Given the description of an element on the screen output the (x, y) to click on. 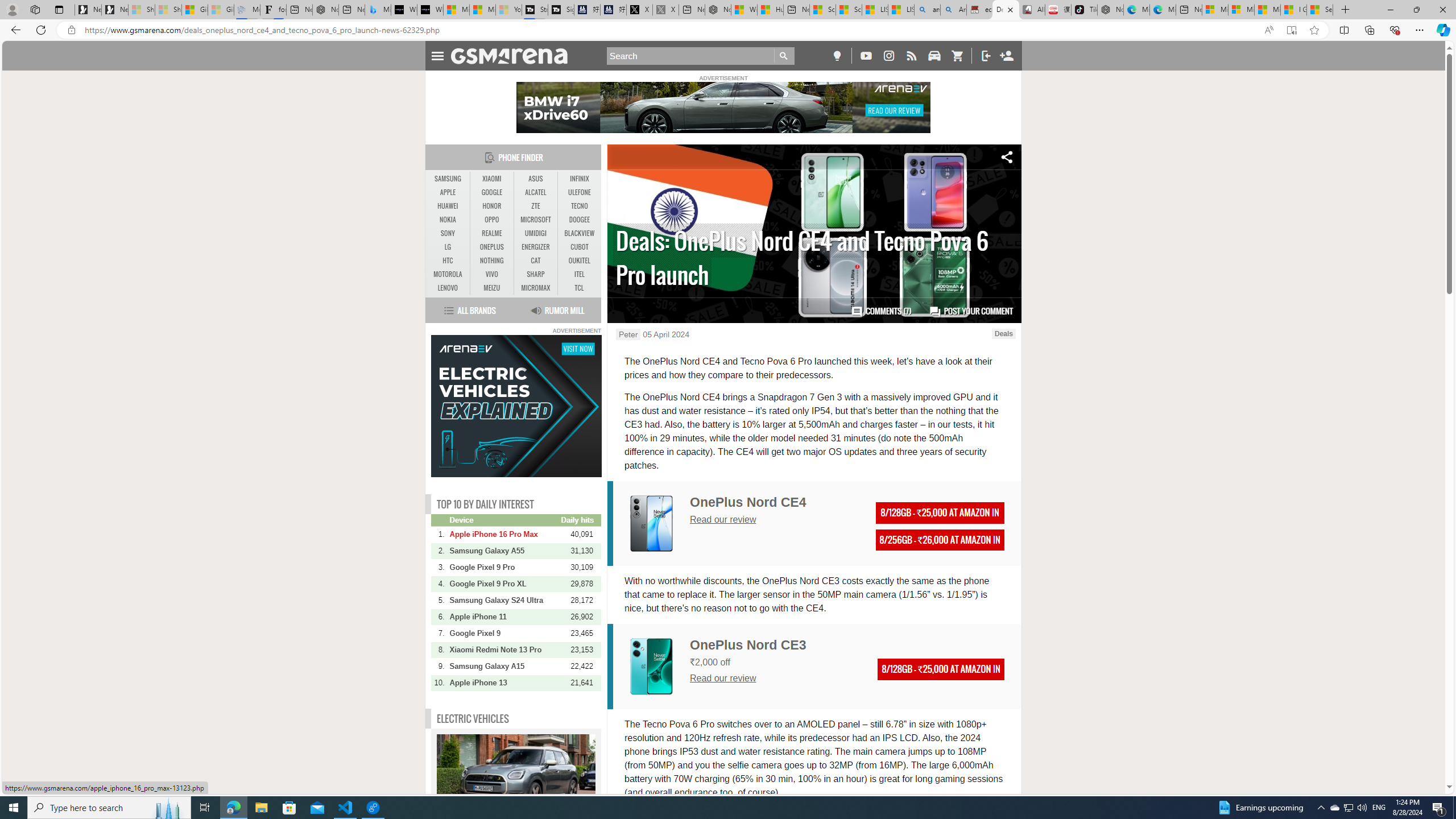
OnePlus Nord CE3 (748, 644)
REALME (491, 233)
MICROMAX (535, 287)
MICROSOFT (535, 219)
Samsung Galaxy A15 (504, 665)
HUAWEI (448, 206)
MEIZU (491, 287)
TikTok (1083, 9)
SAMSUNG (448, 178)
